Given the description of an element on the screen output the (x, y) to click on. 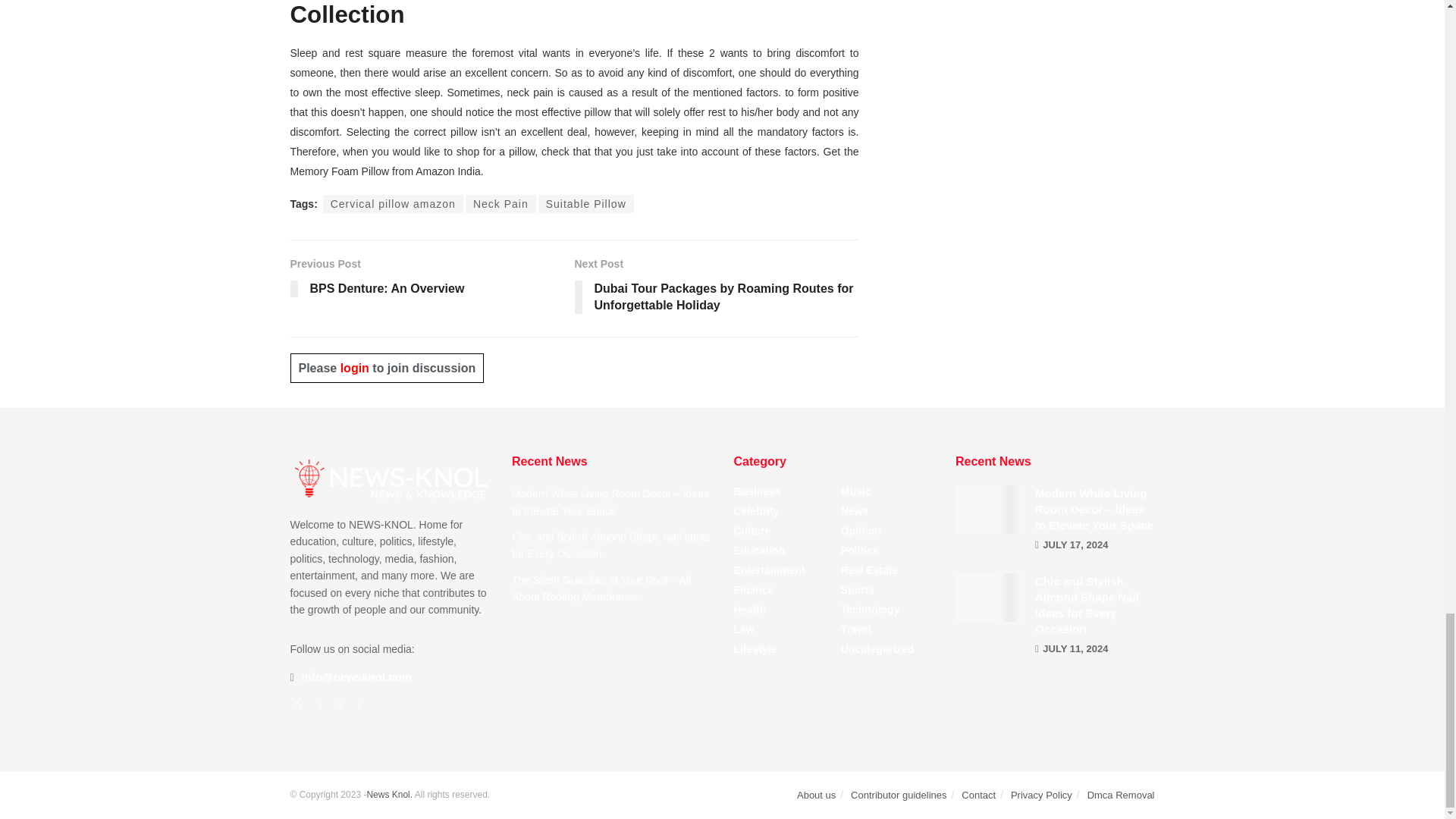
News Knol (389, 793)
